Given the description of an element on the screen output the (x, y) to click on. 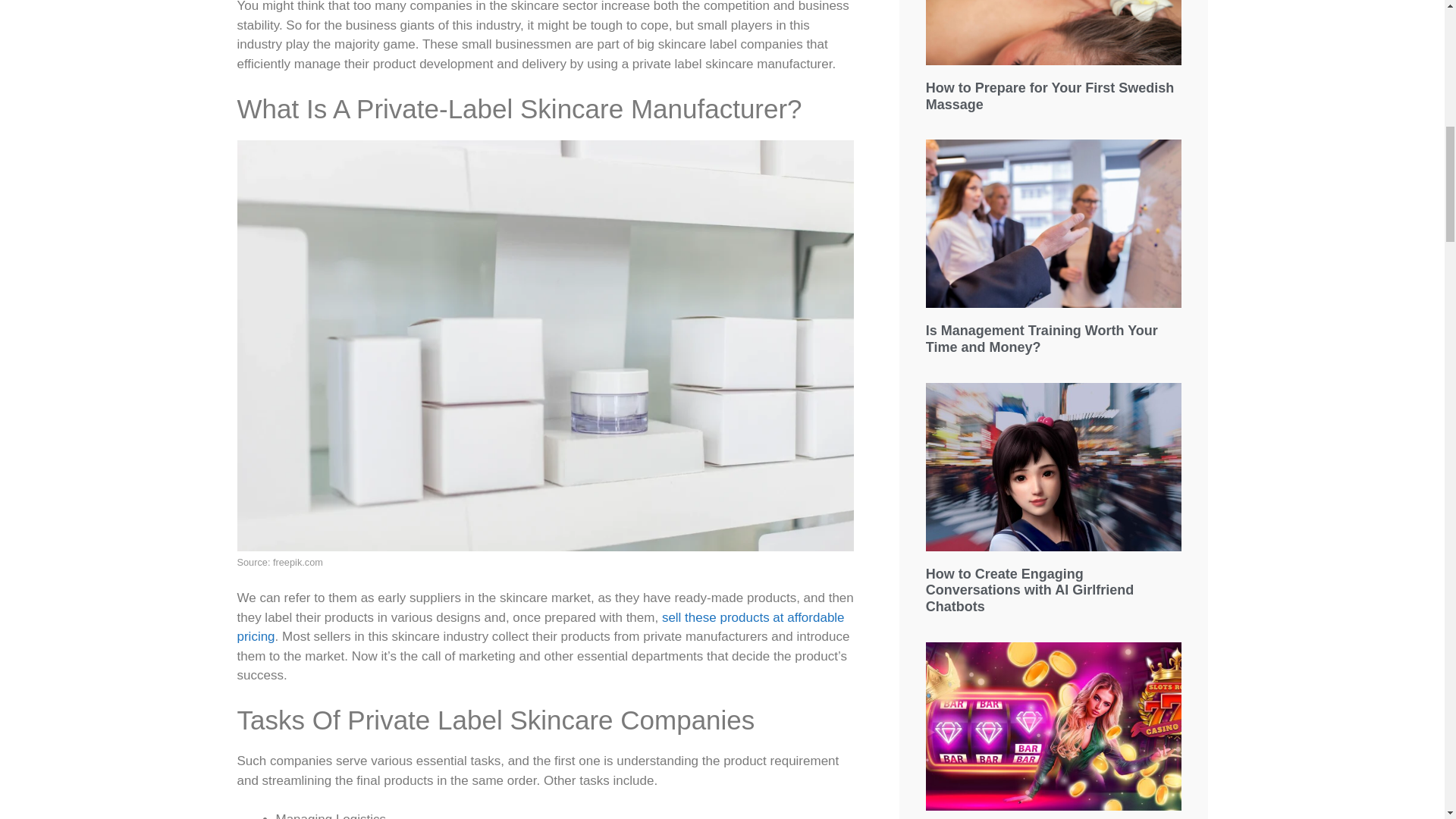
How to Prepare for Your First Swedish Massage (1049, 96)
Is Management Training Worth Your Time and Money? (1041, 338)
sell these products at affordable pricing (539, 627)
